Given the description of an element on the screen output the (x, y) to click on. 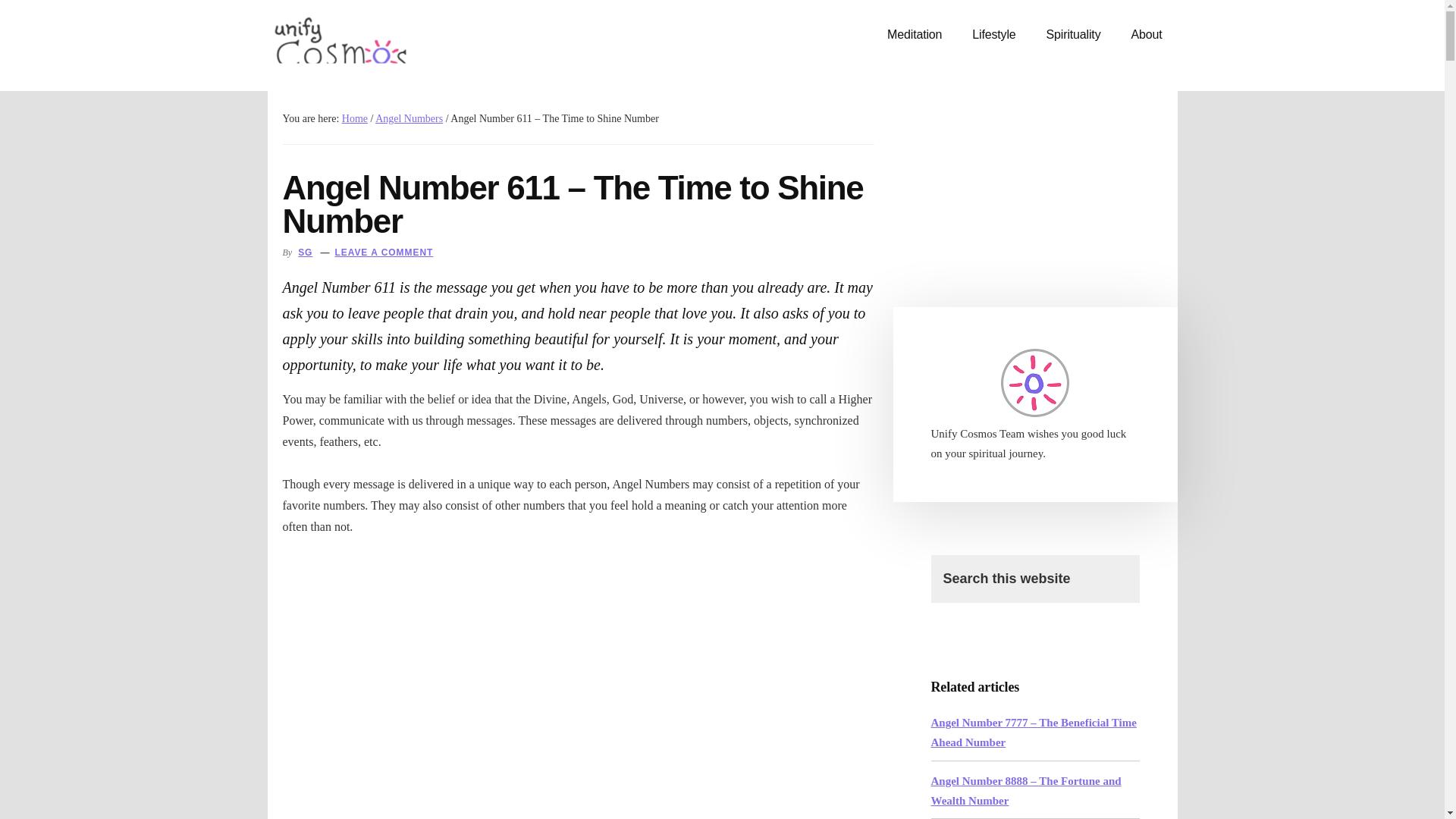
Home (355, 118)
Lifestyle (993, 34)
UnifyCosmos.com (380, 45)
Meditation (914, 34)
SG (305, 252)
Angel Numbers (408, 118)
Spirituality (1073, 34)
